Given the description of an element on the screen output the (x, y) to click on. 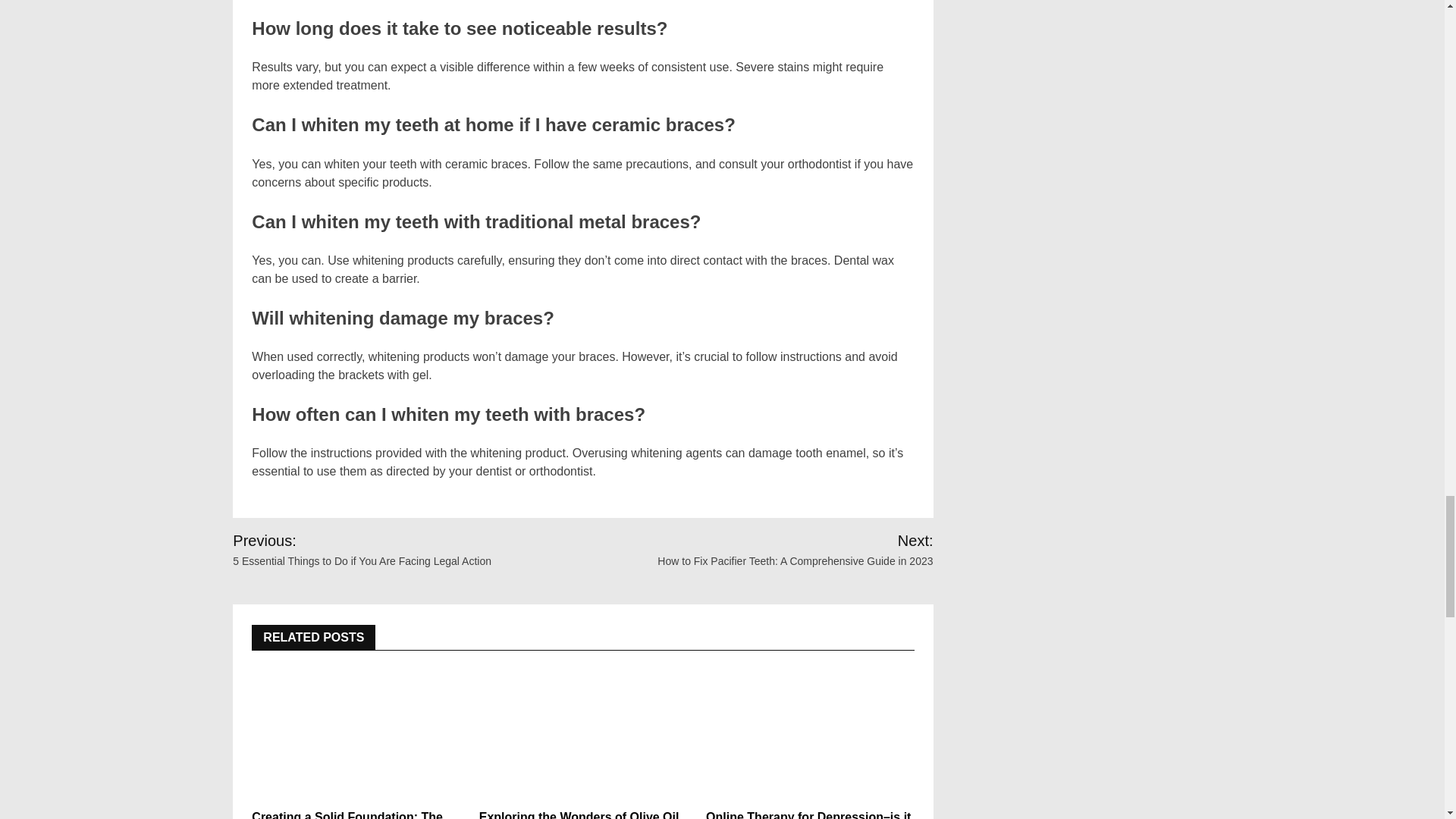
Online Therapy for Depression--is it Useful? (810, 731)
